Given the description of an element on the screen output the (x, y) to click on. 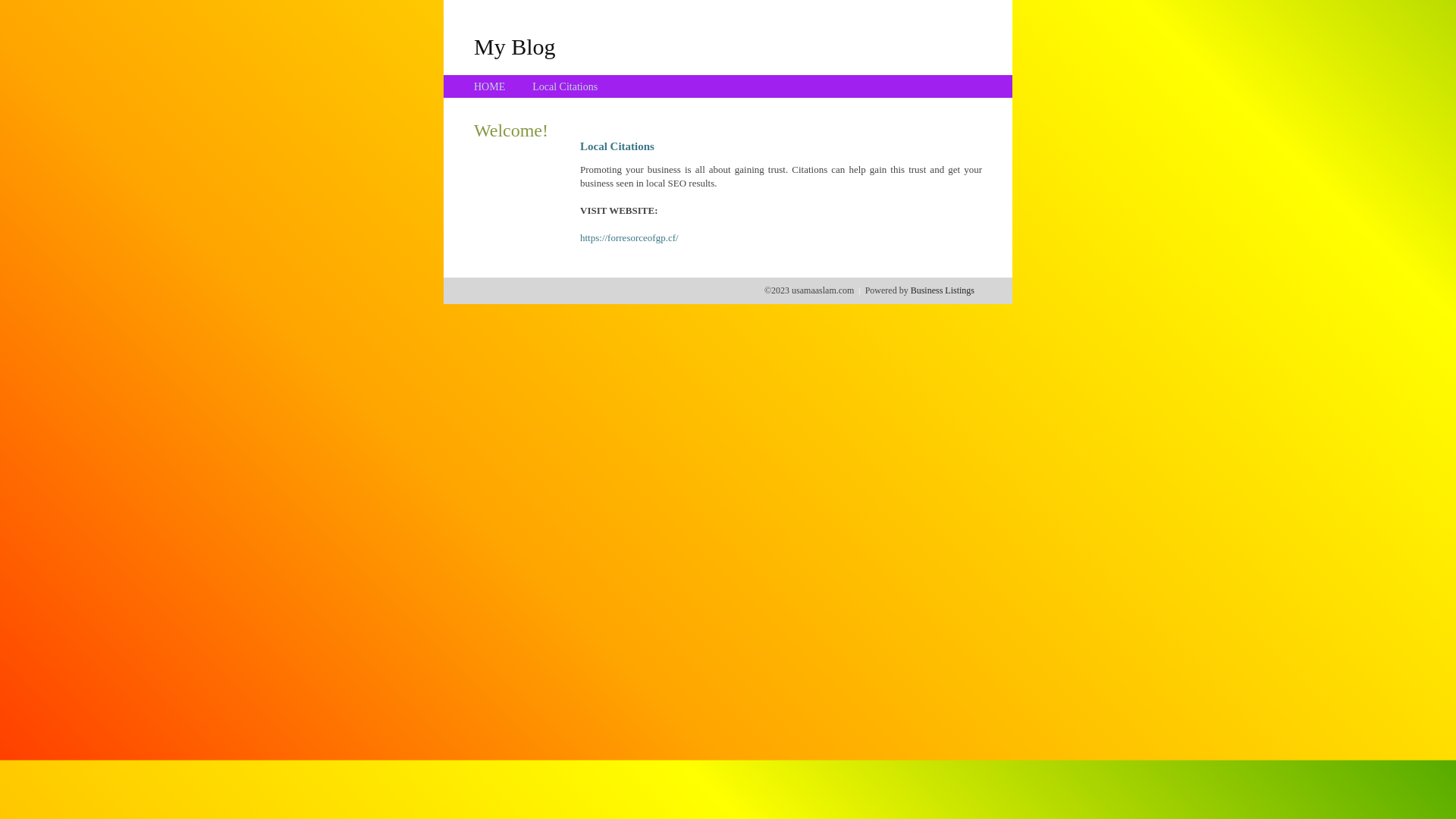
Local Citations Element type: text (564, 86)
HOME Element type: text (489, 86)
https://forresorceofgp.cf/ Element type: text (629, 237)
My Blog Element type: text (514, 46)
Business Listings Element type: text (942, 290)
